Given the description of an element on the screen output the (x, y) to click on. 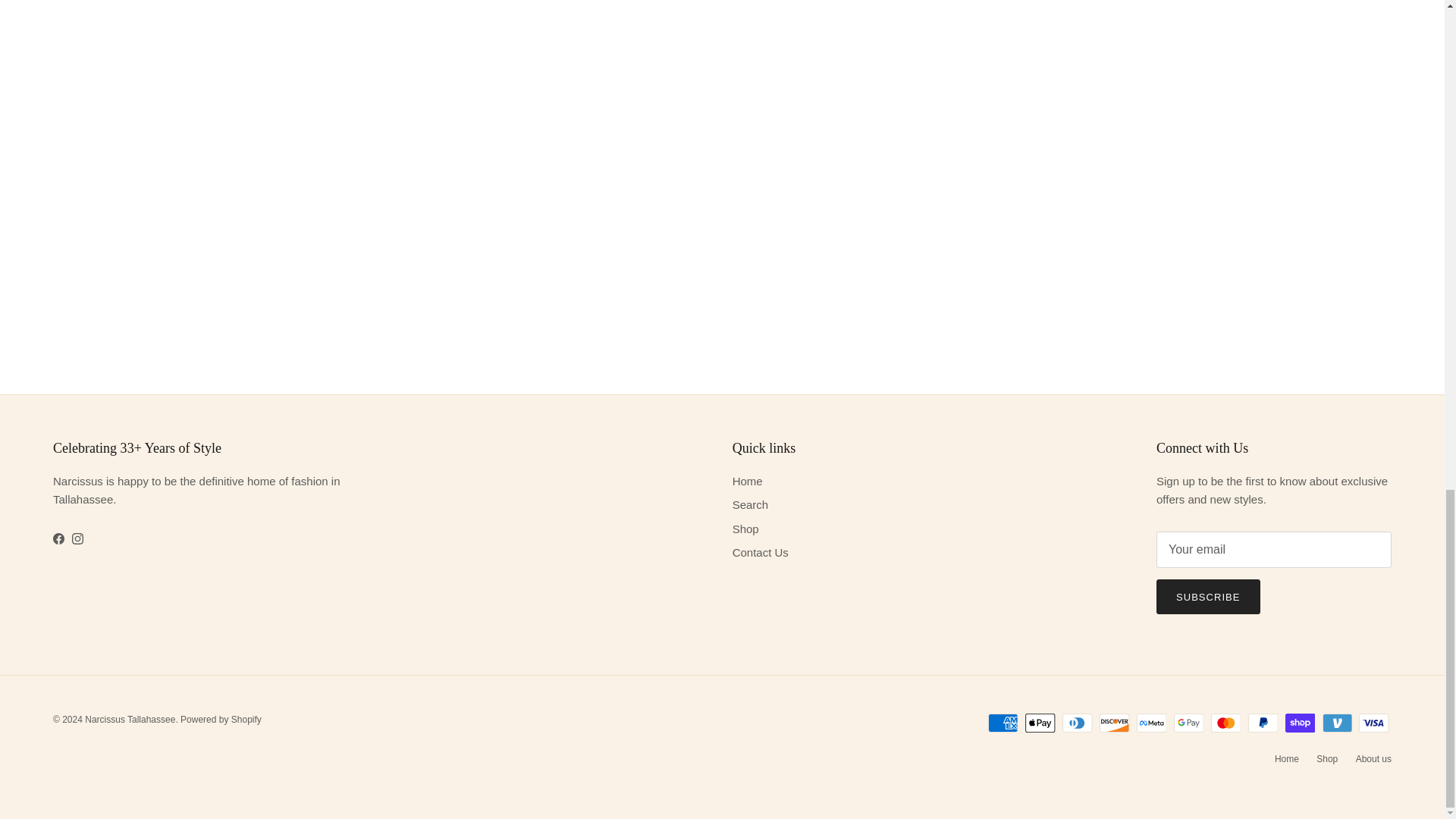
Apple Pay (1040, 722)
PayPal (1262, 722)
Google Pay (1188, 722)
American Express (1002, 722)
Narcissus Tallahassee on Facebook (58, 538)
Diners Club (1077, 722)
Meta Pay (1151, 722)
Discover (1114, 722)
Mastercard (1225, 722)
Narcissus Tallahassee on Instagram (76, 538)
